Given the description of an element on the screen output the (x, y) to click on. 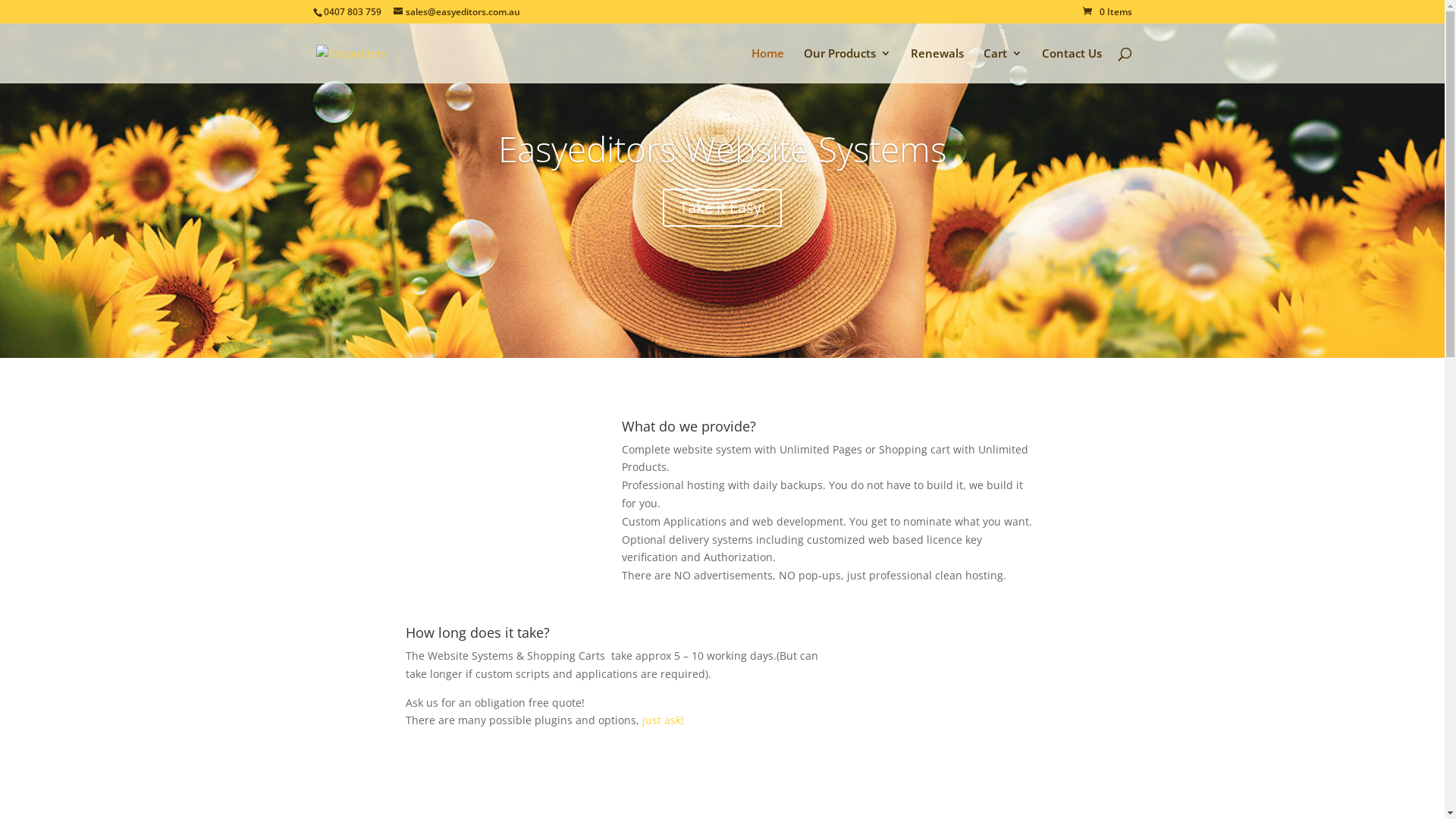
just ask! Element type: text (663, 719)
Renewals Element type: text (936, 65)
Cart Element type: text (1001, 65)
Take it Easy! Element type: text (721, 207)
Our Products Element type: text (847, 65)
Home Element type: text (766, 65)
sales@easyeditors.com.au Element type: text (455, 11)
Contact Us Element type: text (1071, 65)
0 Items Element type: text (1107, 11)
